Given the description of an element on the screen output the (x, y) to click on. 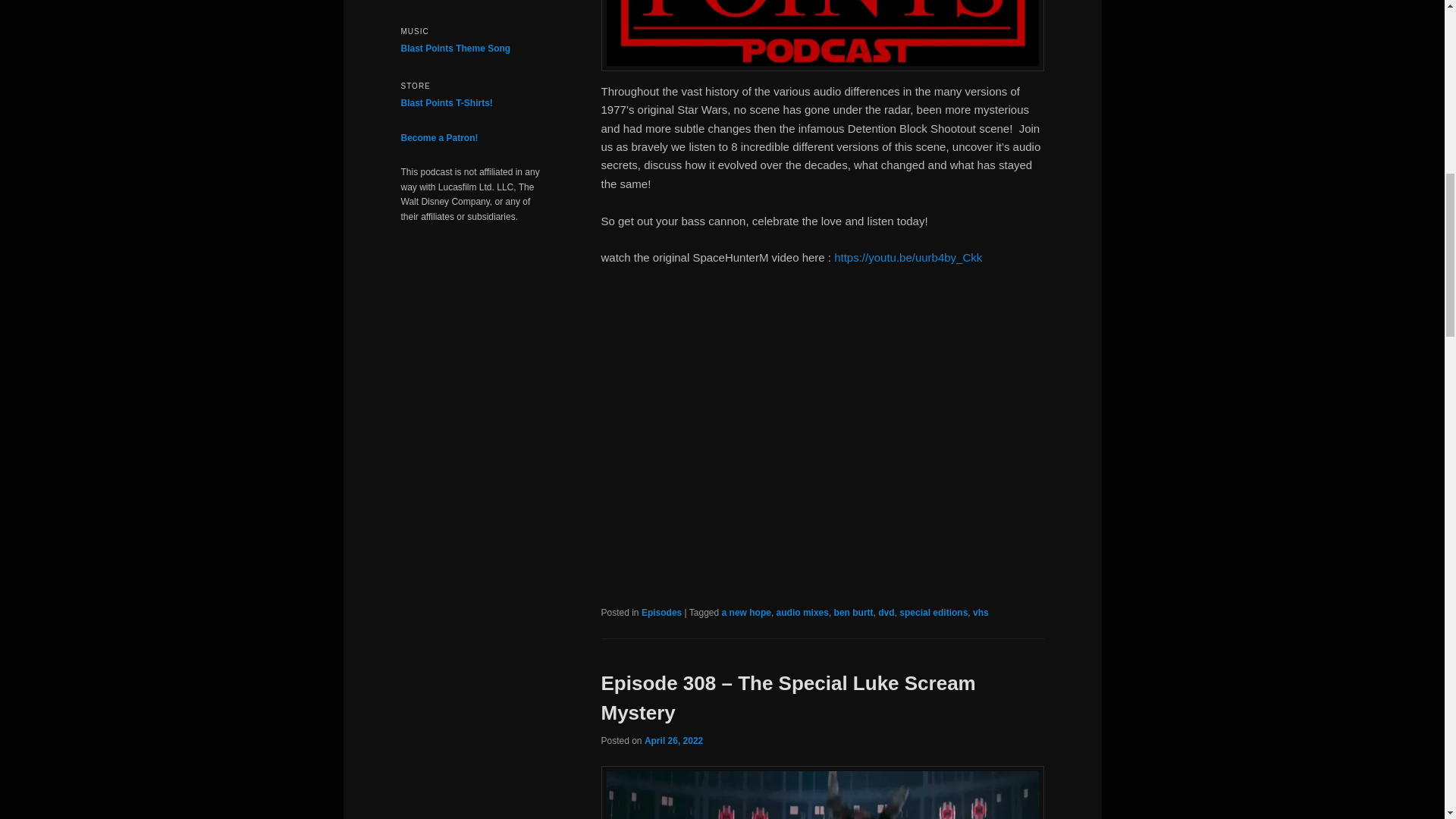
Episodes (661, 612)
a new hope (746, 612)
April 26, 2022 (674, 740)
special editions (933, 612)
ben burtt (853, 612)
dvd (885, 612)
8:55 am (674, 740)
audio mixes (802, 612)
vhs (980, 612)
